Given the description of an element on the screen output the (x, y) to click on. 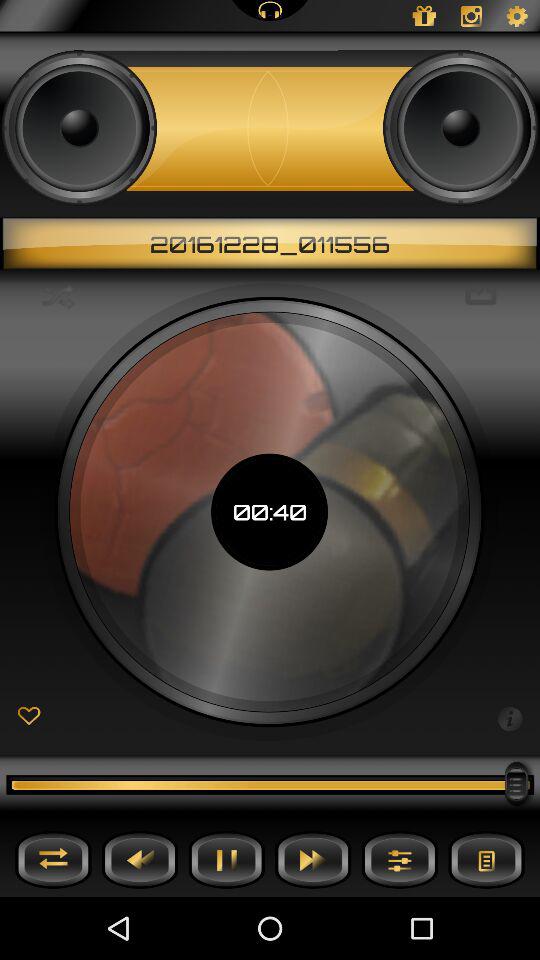
open icon to the right of the 00:40 icon (480, 296)
